Given the description of an element on the screen output the (x, y) to click on. 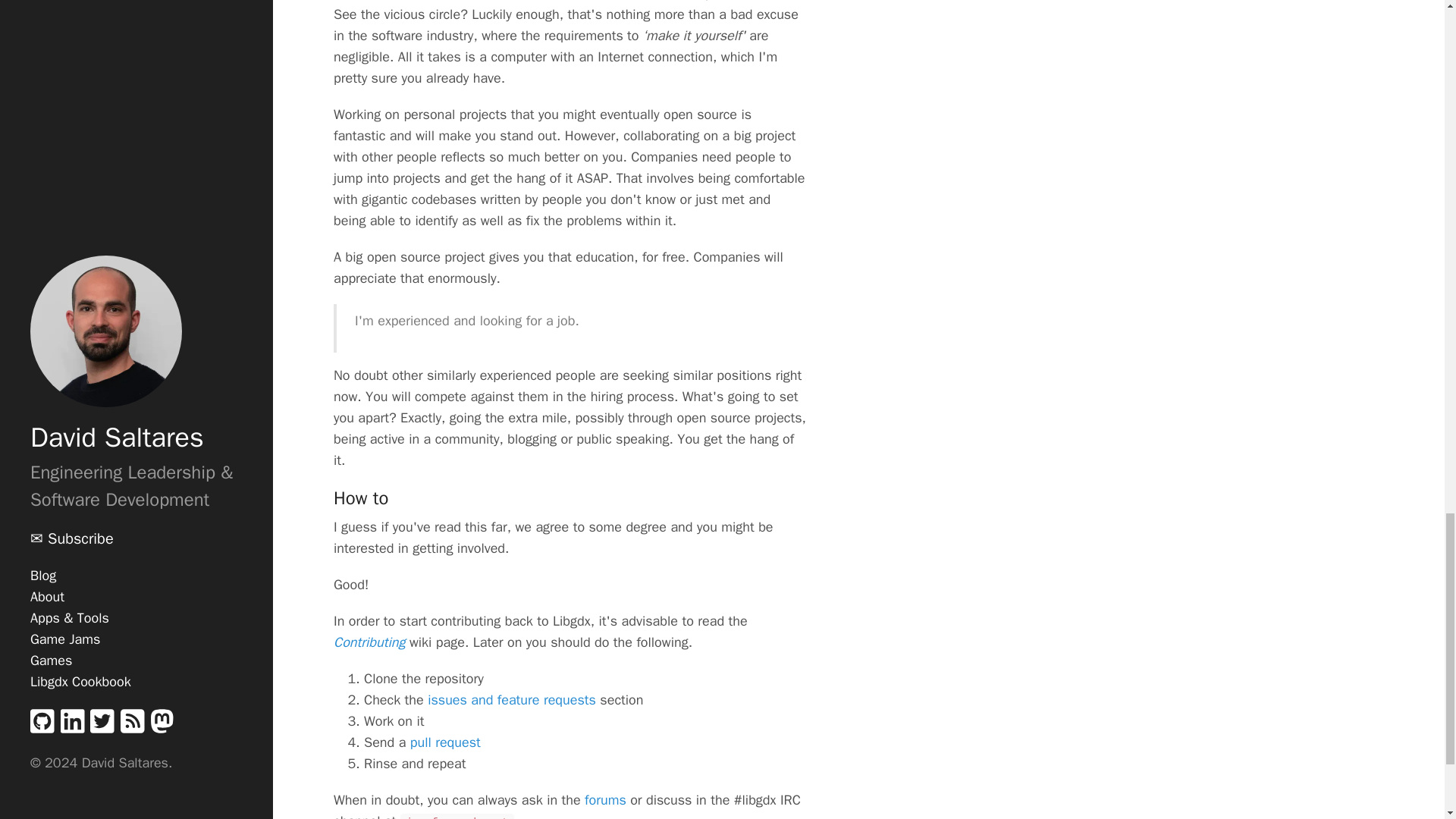
issues and feature requests (511, 699)
pull request (445, 742)
forums (605, 799)
Contributing (369, 641)
